Given the description of an element on the screen output the (x, y) to click on. 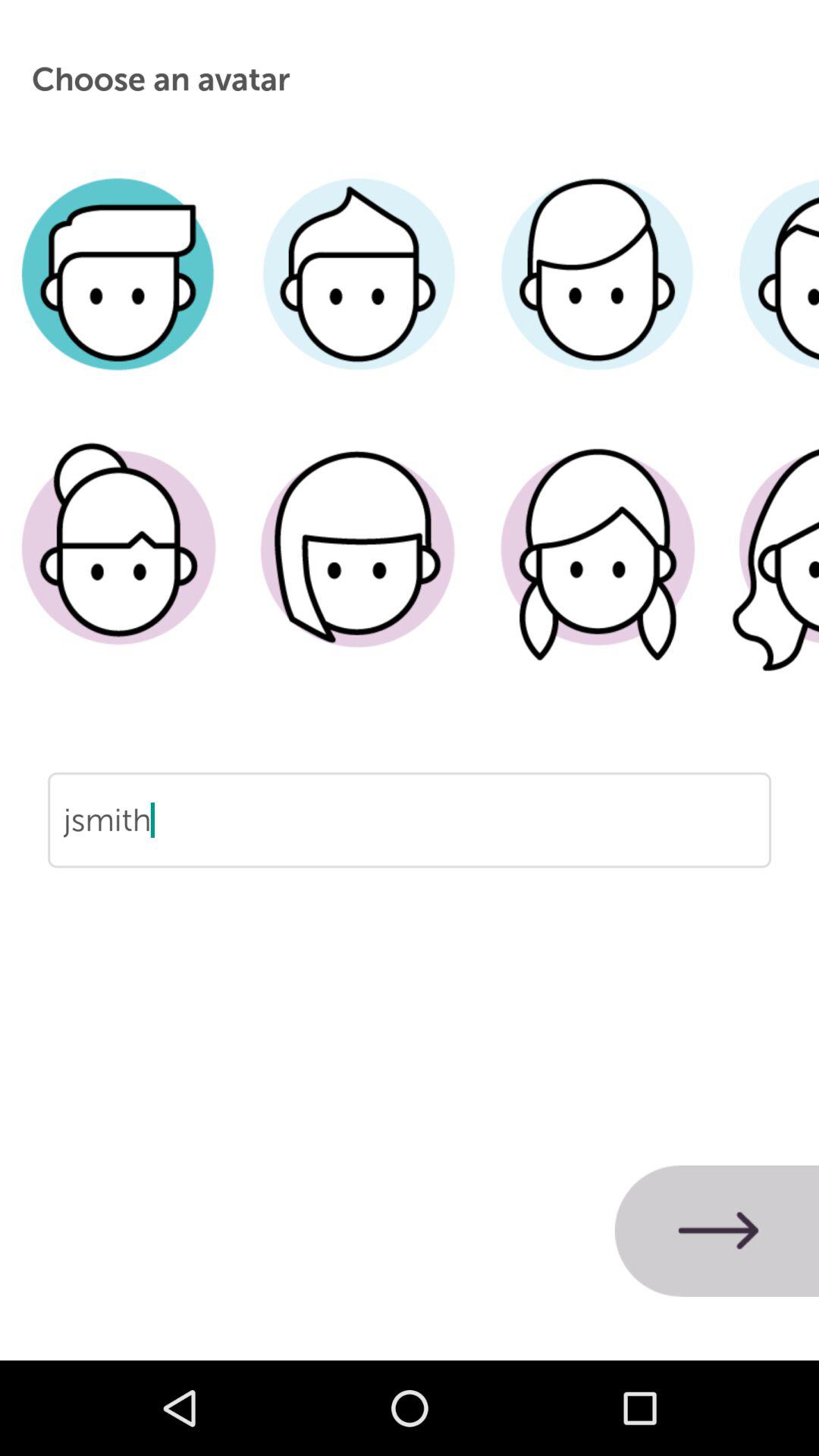
select avatar (596, 570)
